Given the description of an element on the screen output the (x, y) to click on. 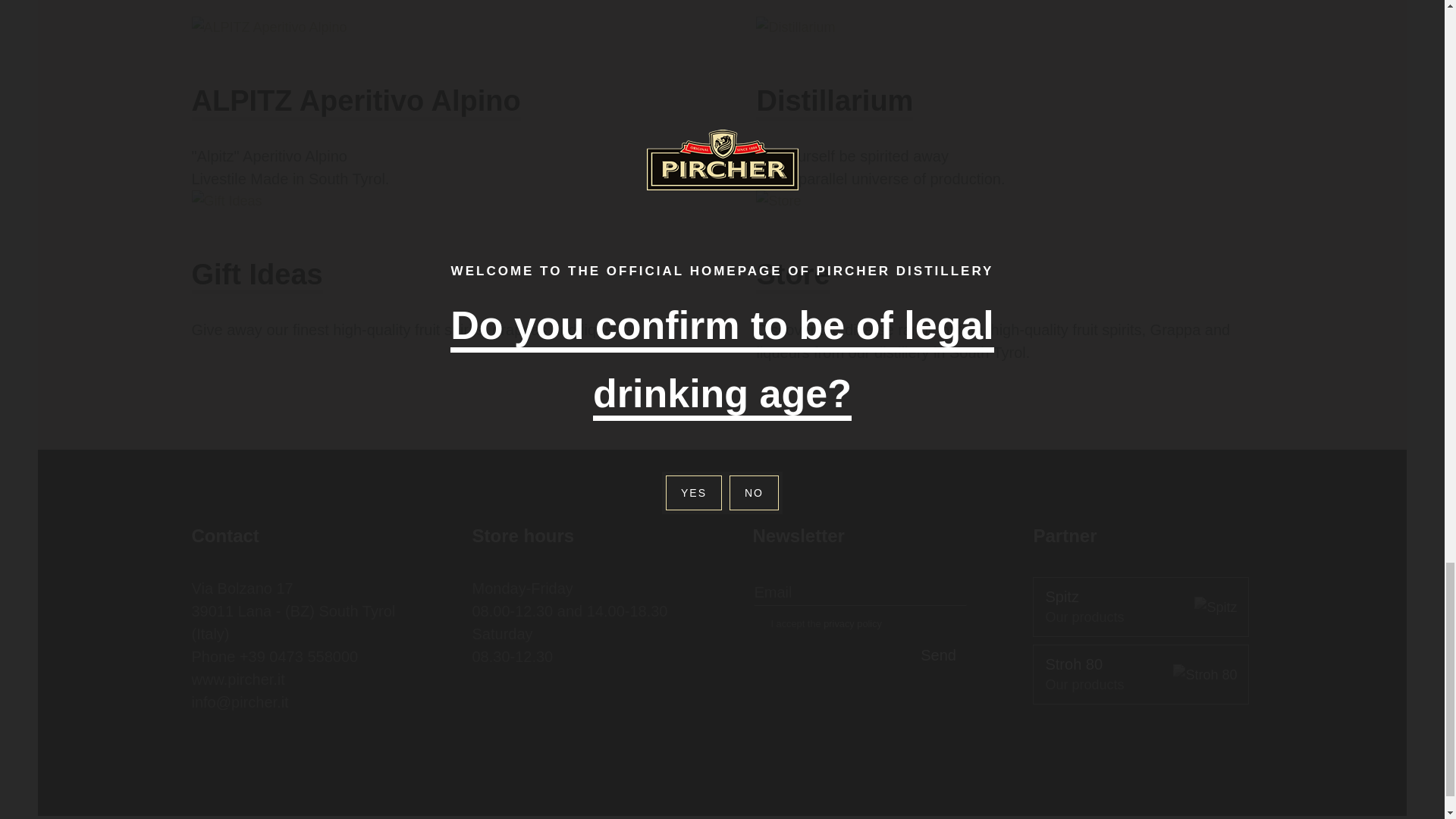
Email (860, 592)
